Given the description of an element on the screen output the (x, y) to click on. 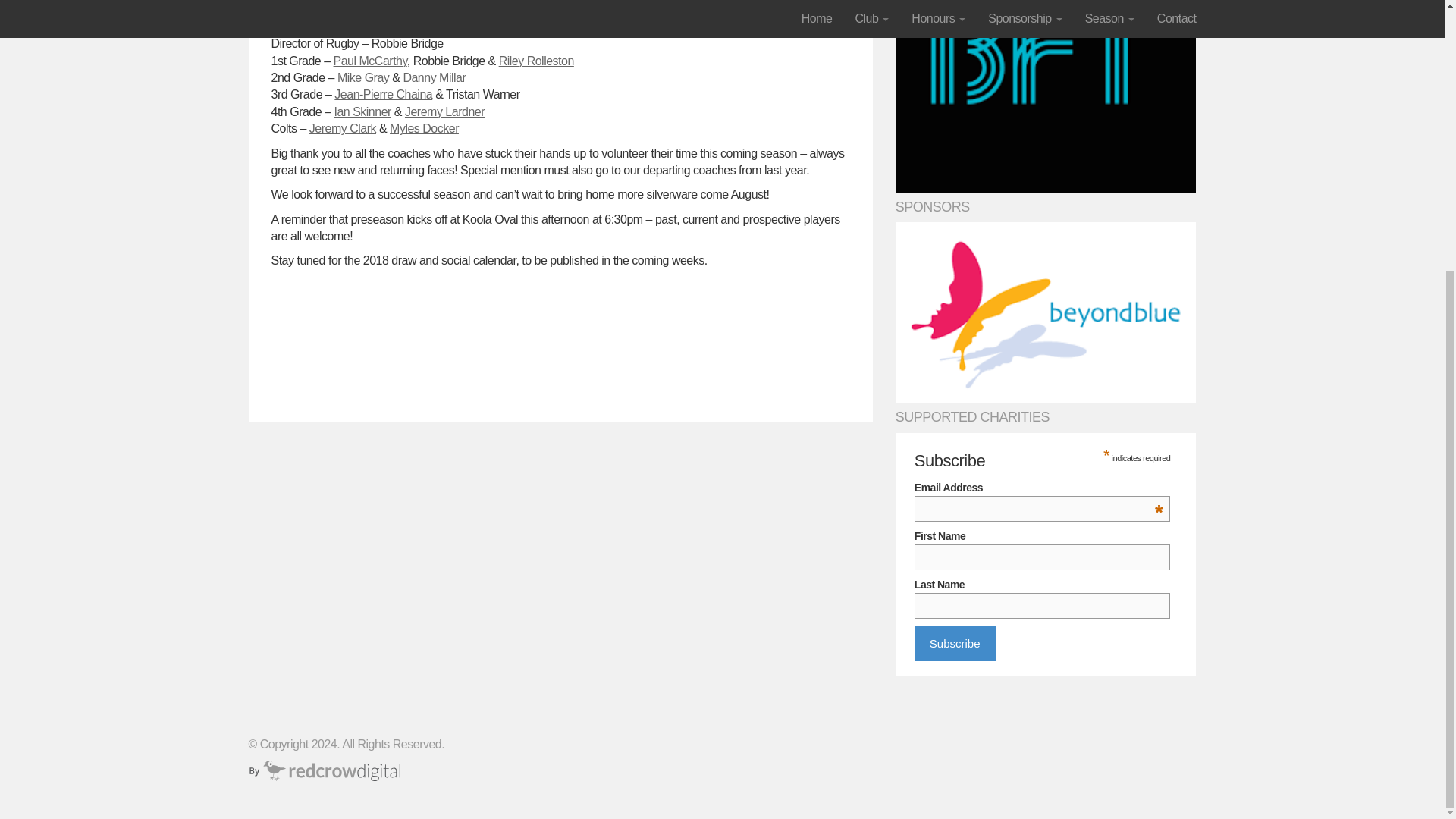
Subscribe (954, 643)
